Given the description of an element on the screen output the (x, y) to click on. 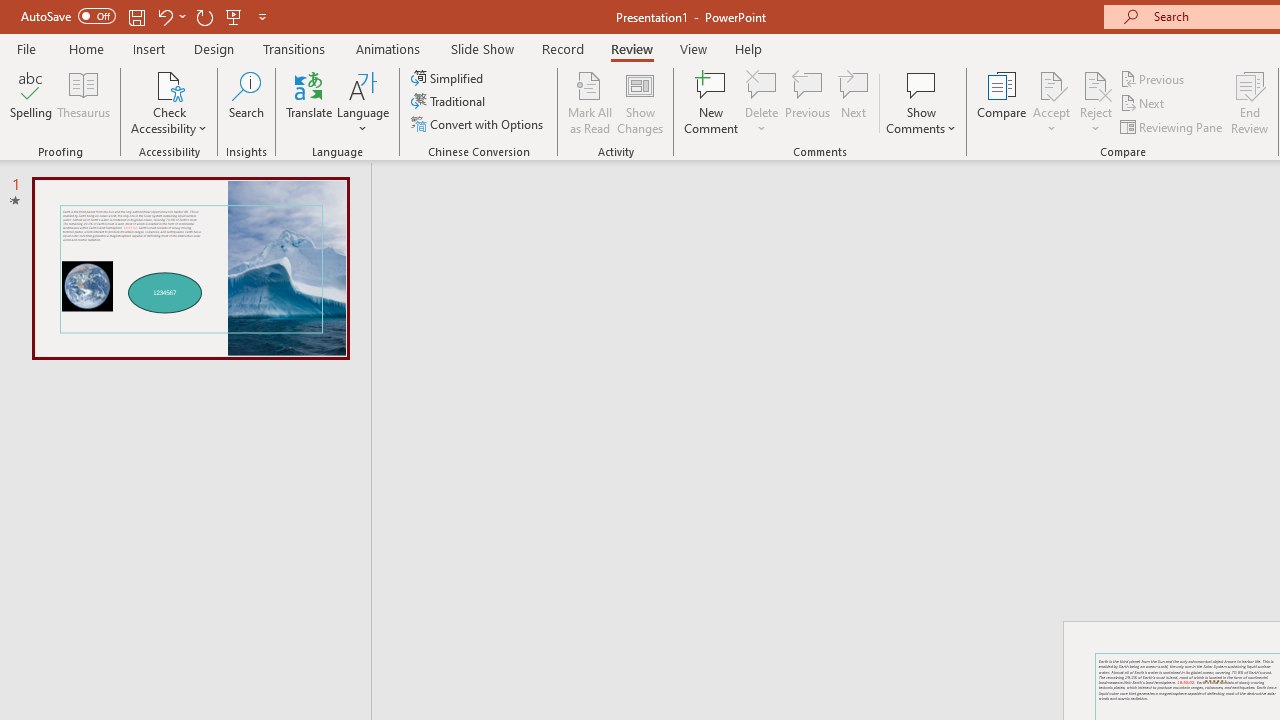
Language (363, 102)
Convert with Options... (479, 124)
New Comment (711, 102)
Traditional (449, 101)
Spelling... (31, 102)
Simplified (449, 78)
Translate (309, 102)
